Given the description of an element on the screen output the (x, y) to click on. 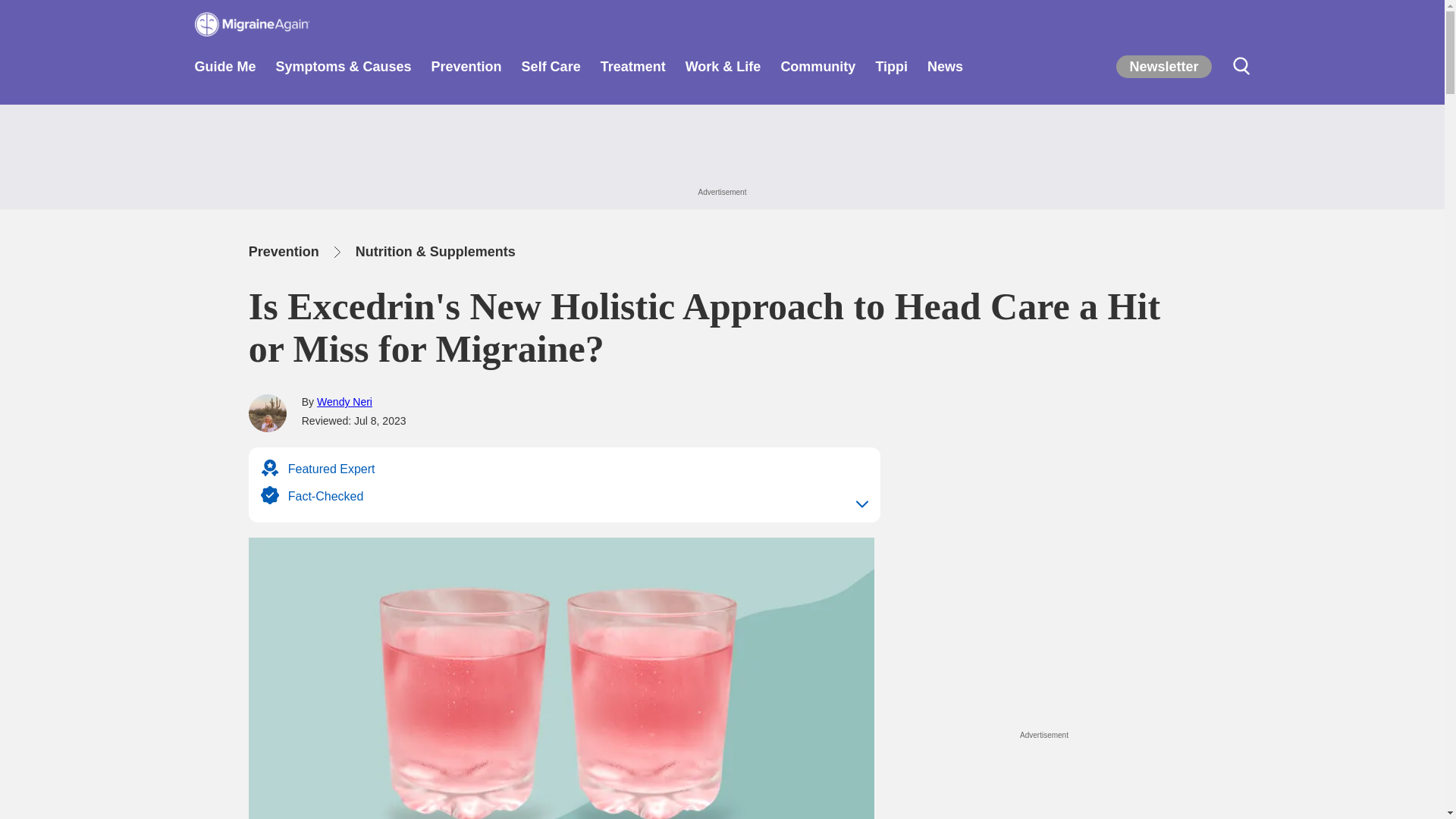
Self Care page (550, 70)
Treatment (632, 70)
Community (818, 70)
Guide Me (224, 70)
Self Care (550, 70)
Guide Me page (224, 70)
Prevention page (466, 70)
Prevention (466, 70)
